Given the description of an element on the screen output the (x, y) to click on. 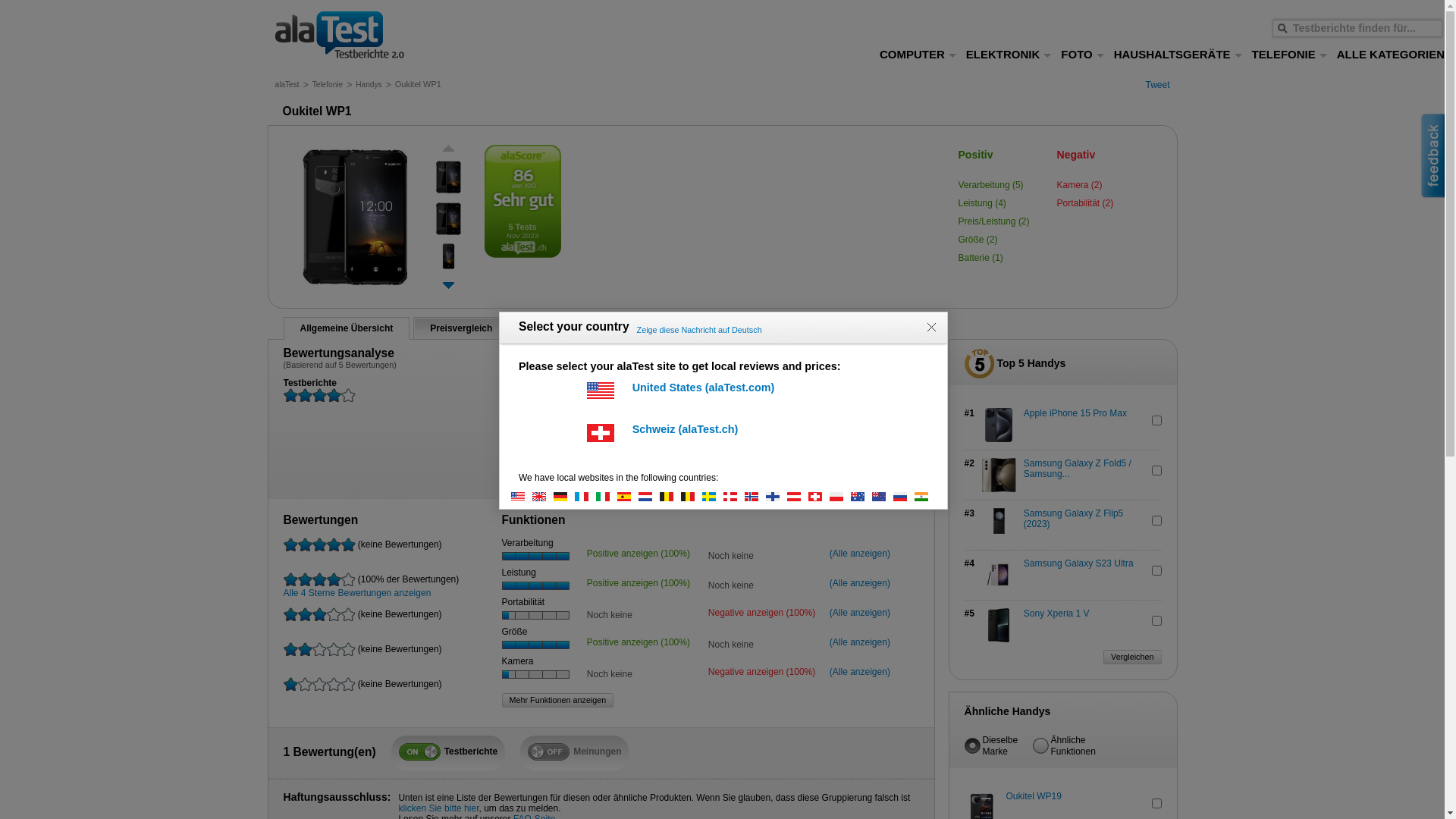
Samsung Galaxy Z Fold5 / Samsung... Element type: text (1080, 468)
Verarbeitung (5) Element type: text (990, 184)
Positive anzeigen (100%) Element type: text (643, 582)
(Alle anzeigen) Element type: text (871, 582)
Tweet Element type: text (1157, 84)
United States (alaTest.com) Element type: text (723, 394)
FOTO Element type: text (1082, 53)
Kamera (2) Element type: text (1079, 184)
Deutschland Element type: hover (563, 495)
New Zealand Element type: hover (882, 495)
Mehr Funktionen anzeigen Element type: text (558, 700)
Positive anzeigen (100%) Element type: text (643, 642)
Sony Xperia 1 V Element type: text (1080, 613)
alaTest Element type: text (286, 84)
Danmark Element type: hover (733, 495)
Norge Element type: hover (754, 495)
Leistung (4) Element type: text (982, 202)
Suomi Element type: hover (776, 495)
ALLE KATEGORIEN Element type: text (1390, 53)
ELEKTRONIK Element type: text (1009, 53)
Samsung Galaxy S23 Ultra Element type: text (1080, 563)
Zeige diese Nachricht auf Deutsch Element type: text (699, 329)
India Element type: hover (924, 495)
Polska Element type: hover (839, 495)
(Alle anzeigen) Element type: text (871, 553)
TELEFONIE Element type: text (1289, 53)
  (100% der Bewertungen)
Alle 4 Sterne Bewertungen anzeigen Element type: text (385, 589)
Schweiz Element type: hover (818, 495)
Negative anzeigen (100%) Element type: text (765, 671)
Preis/Leistung (2) Element type: text (993, 221)
Batterie (1) Element type: text (980, 257)
Handys Element type: text (368, 84)
Belgique Element type: hover (691, 495)
Testberichte 2.0 Element type: text (365, 35)
Negative anzeigen (100%) Element type: text (765, 612)
Oukitel WP19 Element type: text (1062, 795)
(Alle anzeigen) Element type: text (871, 671)
Nederland Element type: hover (648, 495)
COMPUTER Element type: text (918, 53)
United Kingdom Element type: hover (542, 495)
Sverige Element type: hover (712, 495)
United States Element type: hover (521, 495)
Australia Element type: hover (861, 495)
Preisvergleich Element type: text (461, 327)
(Alle anzeigen) Element type: text (871, 612)
Positive anzeigen (100%) Element type: text (643, 553)
(Alle anzeigen) Element type: text (871, 642)
Schweiz (alaTest.ch) Element type: text (723, 436)
Russia Element type: hover (903, 495)
Apple iPhone 15 Pro Max Element type: text (1080, 412)
Italia Element type: hover (606, 495)
France Element type: hover (585, 495)
Telefonie Element type: text (327, 84)
Samsung Galaxy Z Flip5 (2023) Element type: text (1080, 518)
